Given the description of an element on the screen output the (x, y) to click on. 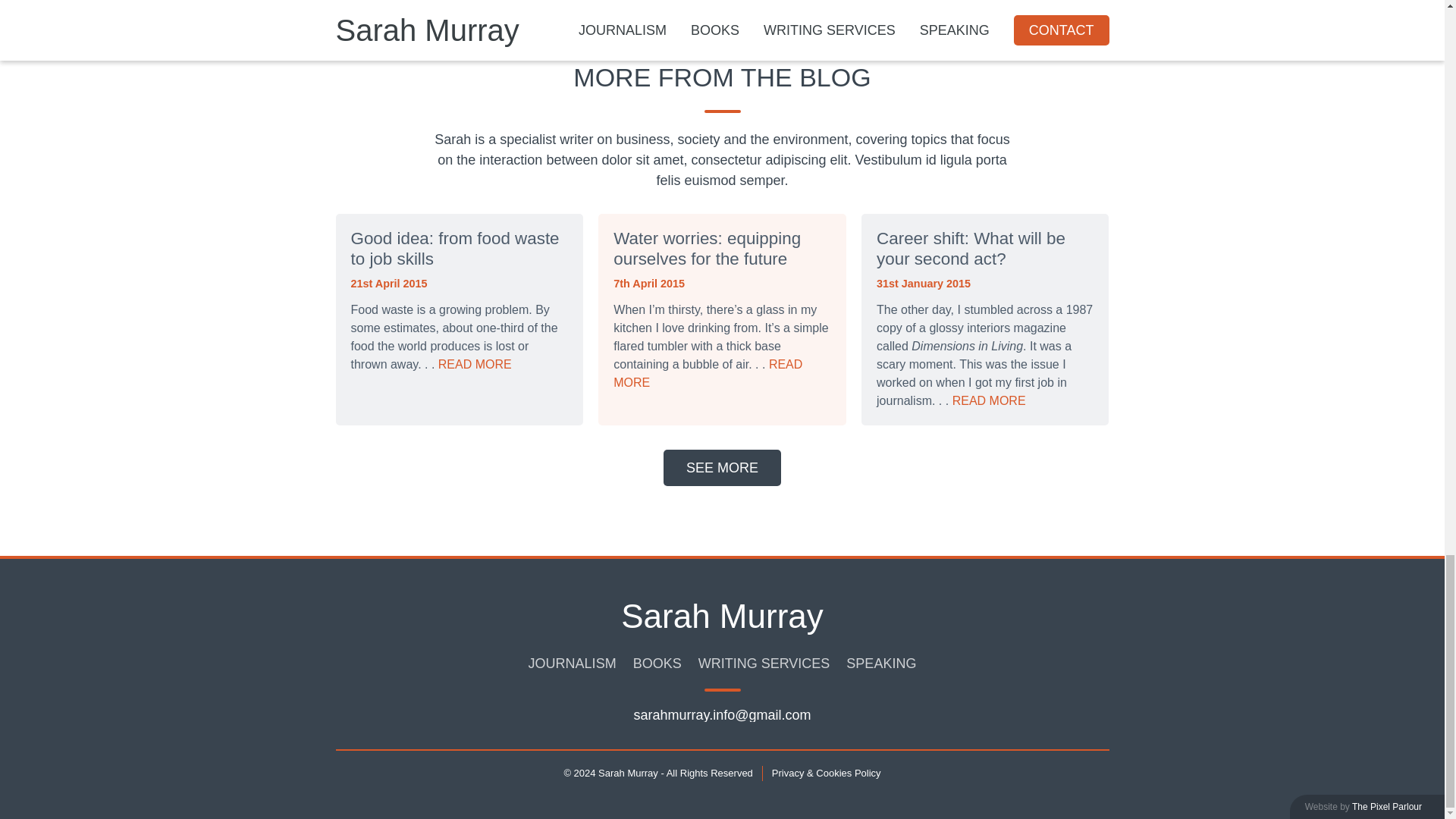
JOURNALISM (571, 663)
The Pixel Parlour (1387, 807)
SPEAKING (880, 663)
WRITING SERVICES (763, 663)
BOOKS (657, 663)
SEE MORE (721, 467)
